Given the description of an element on the screen output the (x, y) to click on. 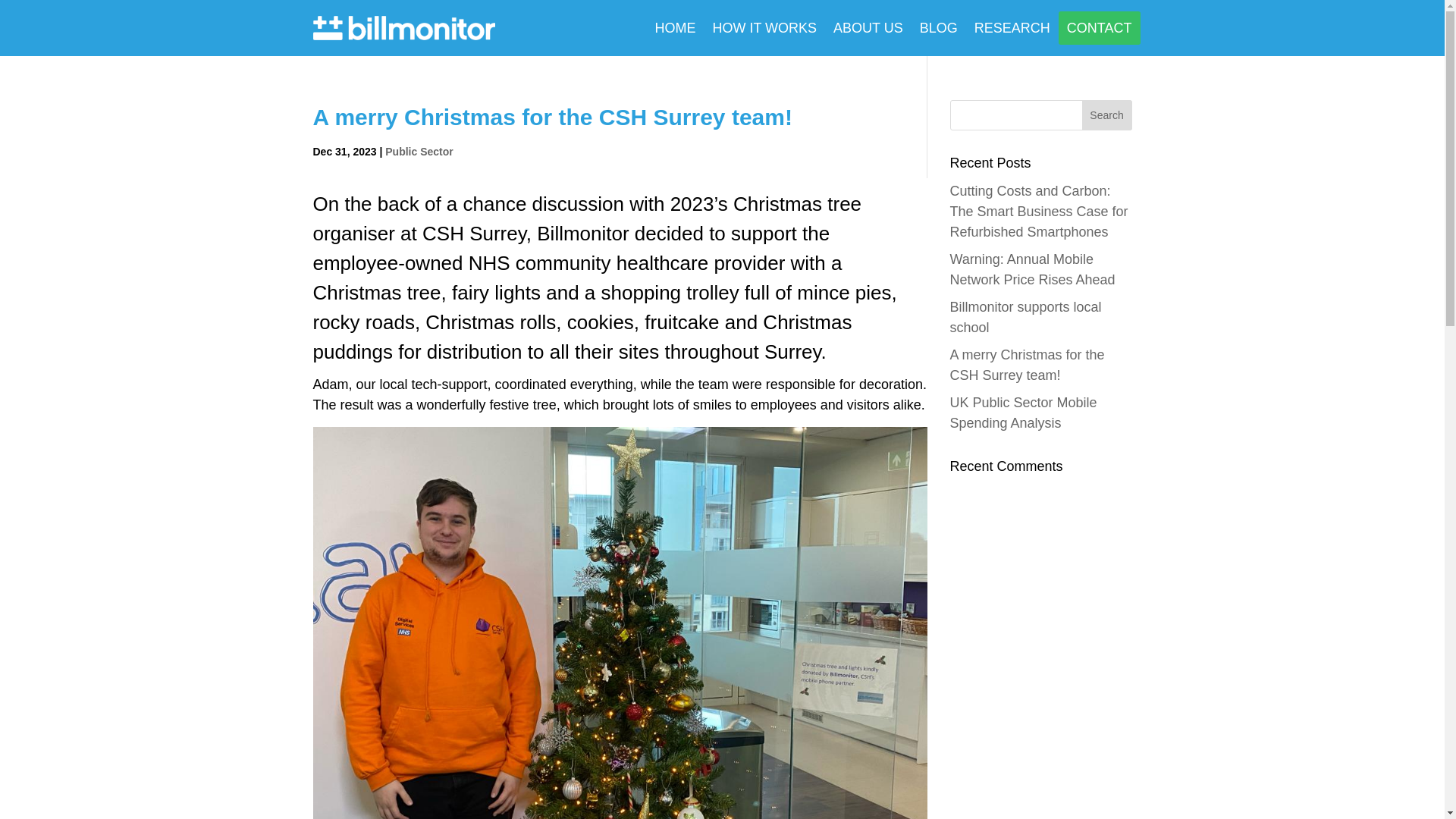
Search (1106, 114)
A merry Christmas for the CSH Surrey team! (1026, 365)
UK Public Sector Mobile Spending Analysis (1022, 412)
CONTACT (1099, 28)
HOW IT WORKS (763, 28)
Search (1106, 114)
BLOG (939, 28)
RESEARCH (1011, 28)
Public Sector (418, 151)
Billmonitor supports local school (1024, 316)
ABOUT US (867, 28)
HOME (674, 28)
Warning: Annual Mobile Network Price Rises Ahead (1032, 269)
CSH Surrey (473, 232)
